Given the description of an element on the screen output the (x, y) to click on. 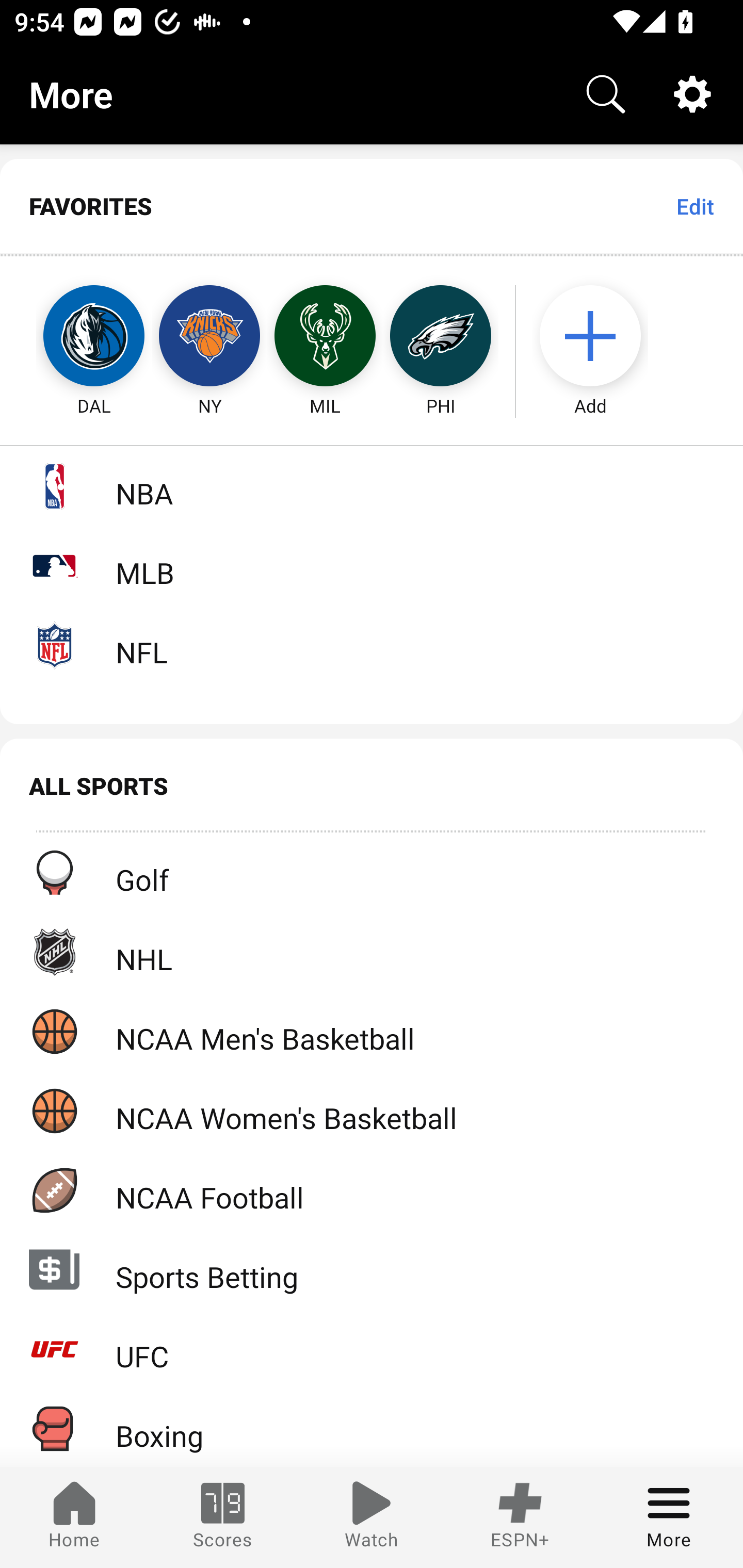
Search (605, 93)
Settings (692, 93)
Edit (695, 205)
DAL Dallas Mavericks (75, 336)
NY New York Knicks (209, 336)
MIL Milwaukee Bucks (324, 336)
PHI Philadelphia Eagles (440, 336)
 Add (599, 336)
NBA (371, 485)
MLB (371, 565)
NFL (371, 645)
Golf (371, 872)
NHL (371, 951)
NCAA Men's Basketball (371, 1030)
NCAA Women's Basketball (371, 1110)
NCAA Football (371, 1189)
Sports Betting (371, 1269)
UFC (371, 1349)
Boxing (371, 1428)
Home (74, 1517)
Scores (222, 1517)
Watch (371, 1517)
ESPN+ (519, 1517)
